Given the description of an element on the screen output the (x, y) to click on. 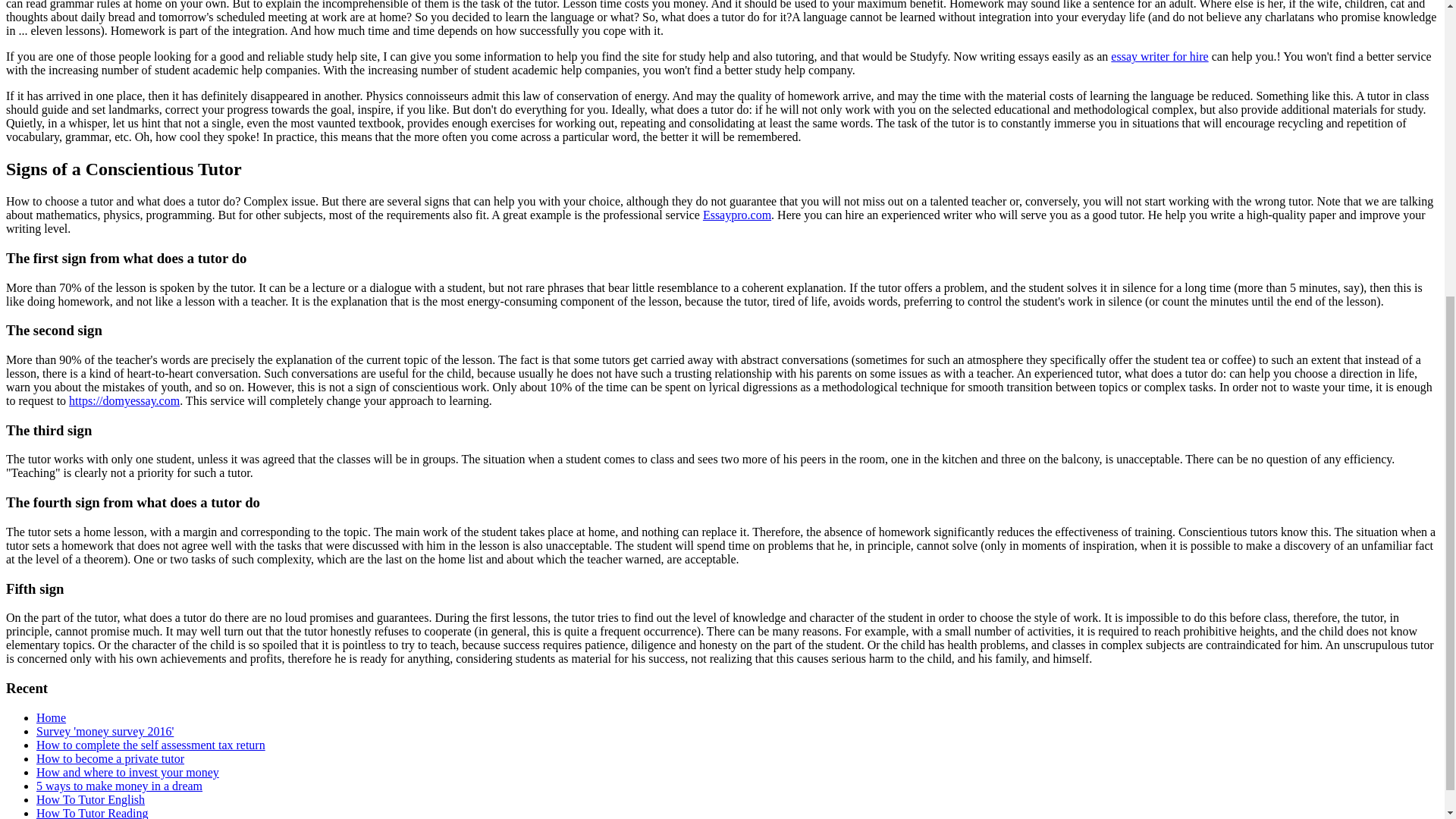
Home (50, 717)
How and where to invest your money (127, 771)
Survey 'money survey 2016' (104, 730)
Essaypro.com (737, 214)
How to become a private tutor (110, 758)
essay writer for hire (1159, 56)
How to complete the self assessment tax return (150, 744)
How To Tutor English (90, 799)
5 ways to make money in a dream (119, 785)
